Given the description of an element on the screen output the (x, y) to click on. 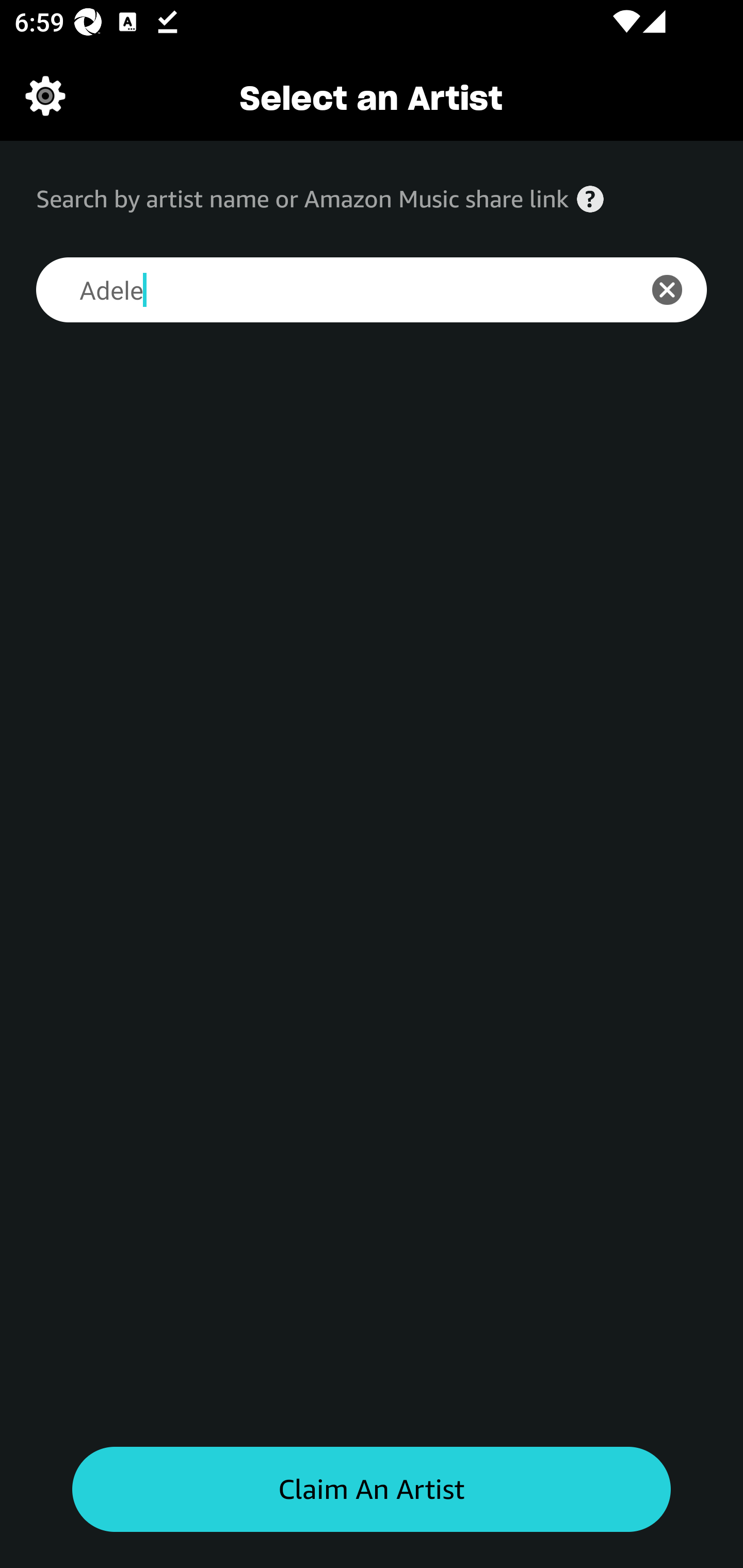
Help  icon (589, 199)
Adele Search for an artist search bar (324, 290)
 icon (677, 290)
Claim an artist button Claim An Artist (371, 1489)
